Given the description of an element on the screen output the (x, y) to click on. 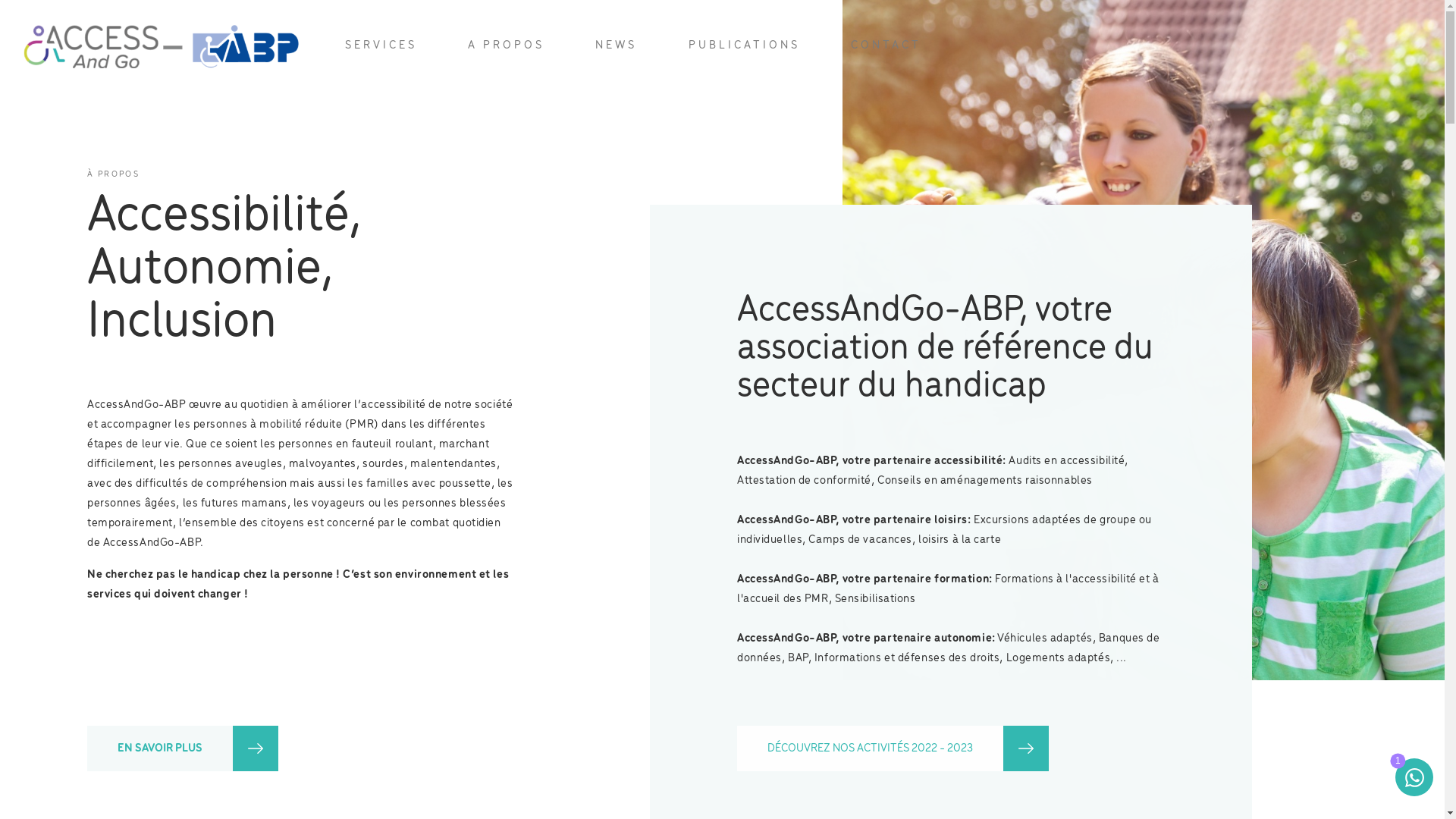
SERVICES Element type: text (381, 45)
PUBLICATIONS Element type: text (744, 45)
EN SAVOIR PLUS Element type: text (182, 748)
ACCESS AND GO Element type: text (160, 45)
NEWS Element type: text (616, 45)
CONTACT Element type: text (885, 45)
A PROPOS Element type: text (505, 45)
